Given the description of an element on the screen output the (x, y) to click on. 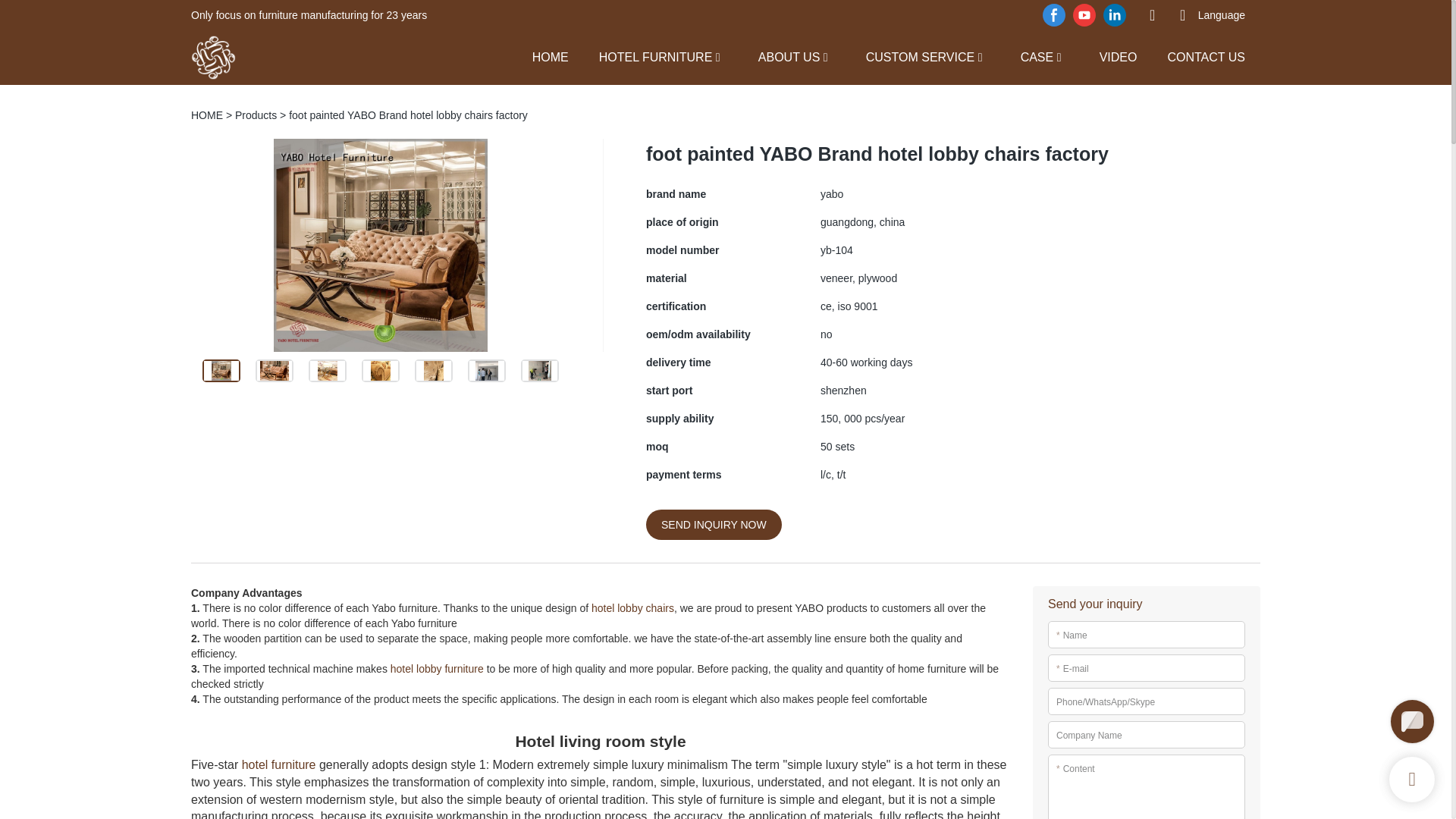
hotel lobby furniture (436, 668)
CUSTOM SERVICE (920, 56)
facebook (1053, 15)
HOME (550, 56)
linkedin (1114, 15)
hotel lobby chairs (632, 607)
hotel furniture (278, 764)
youtube (1083, 15)
ABOUT US (789, 56)
CASE (1037, 56)
